Given the description of an element on the screen output the (x, y) to click on. 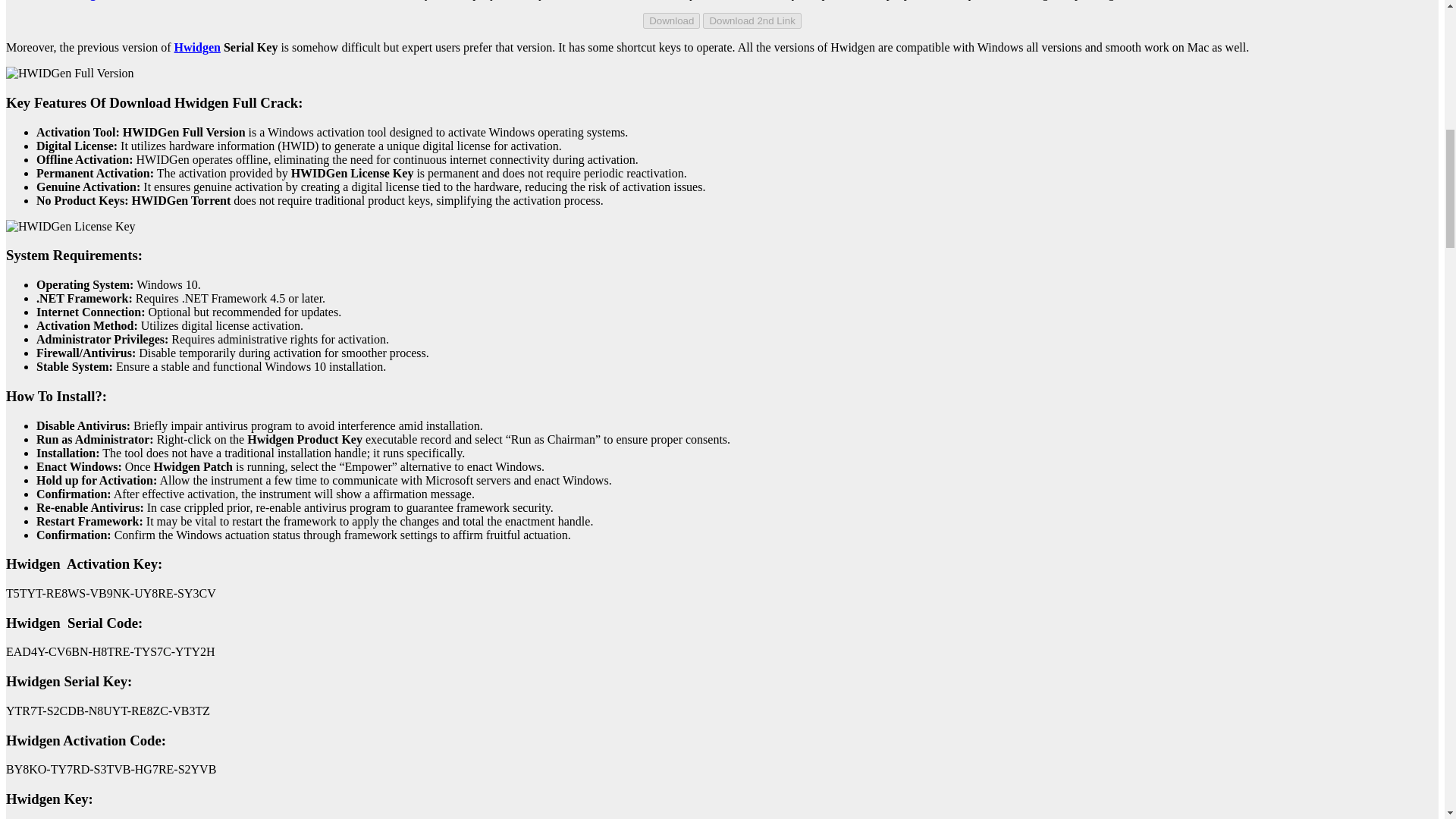
Download (671, 20)
